Given the description of an element on the screen output the (x, y) to click on. 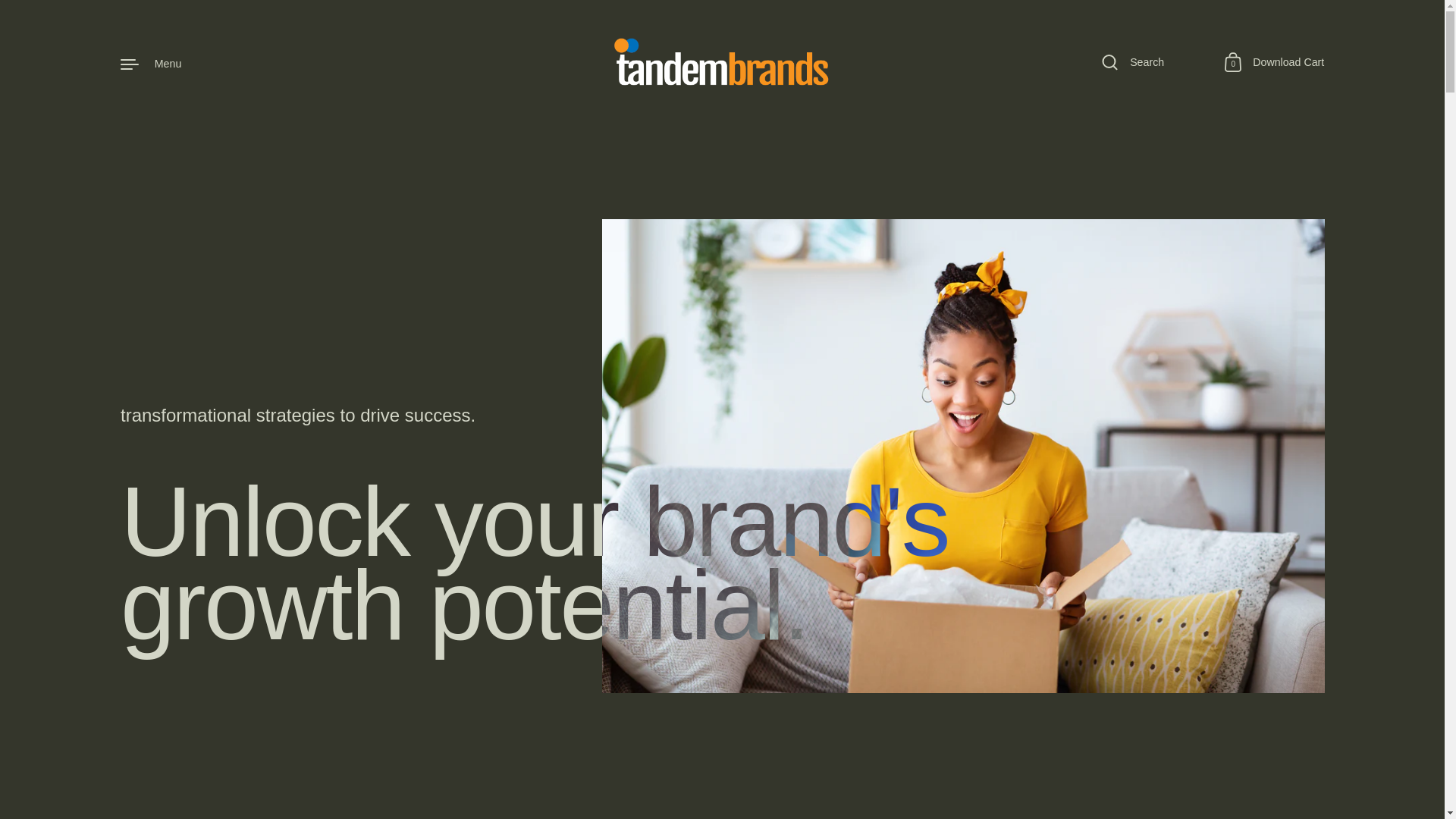
tandembrands.io (1273, 63)
Skip to content (721, 63)
Search (151, 63)
